Given the description of an element on the screen output the (x, y) to click on. 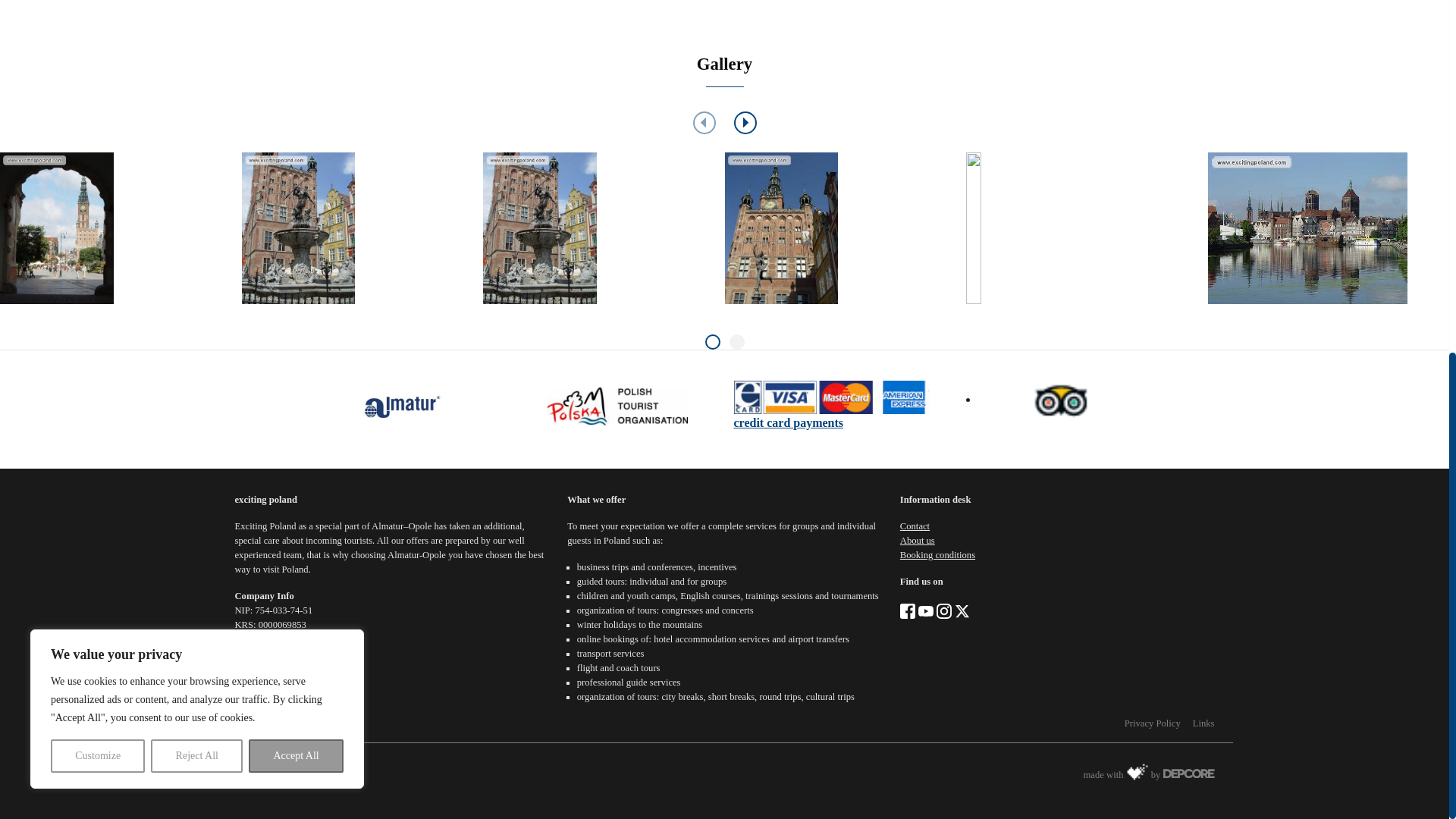
Find us on Facebook (907, 609)
Find us on Instagram (944, 609)
Find us on Twitter (962, 609)
Reject All (197, 135)
Find us on Youtube (925, 609)
Customize (97, 135)
Accept All (295, 135)
